Given the description of an element on the screen output the (x, y) to click on. 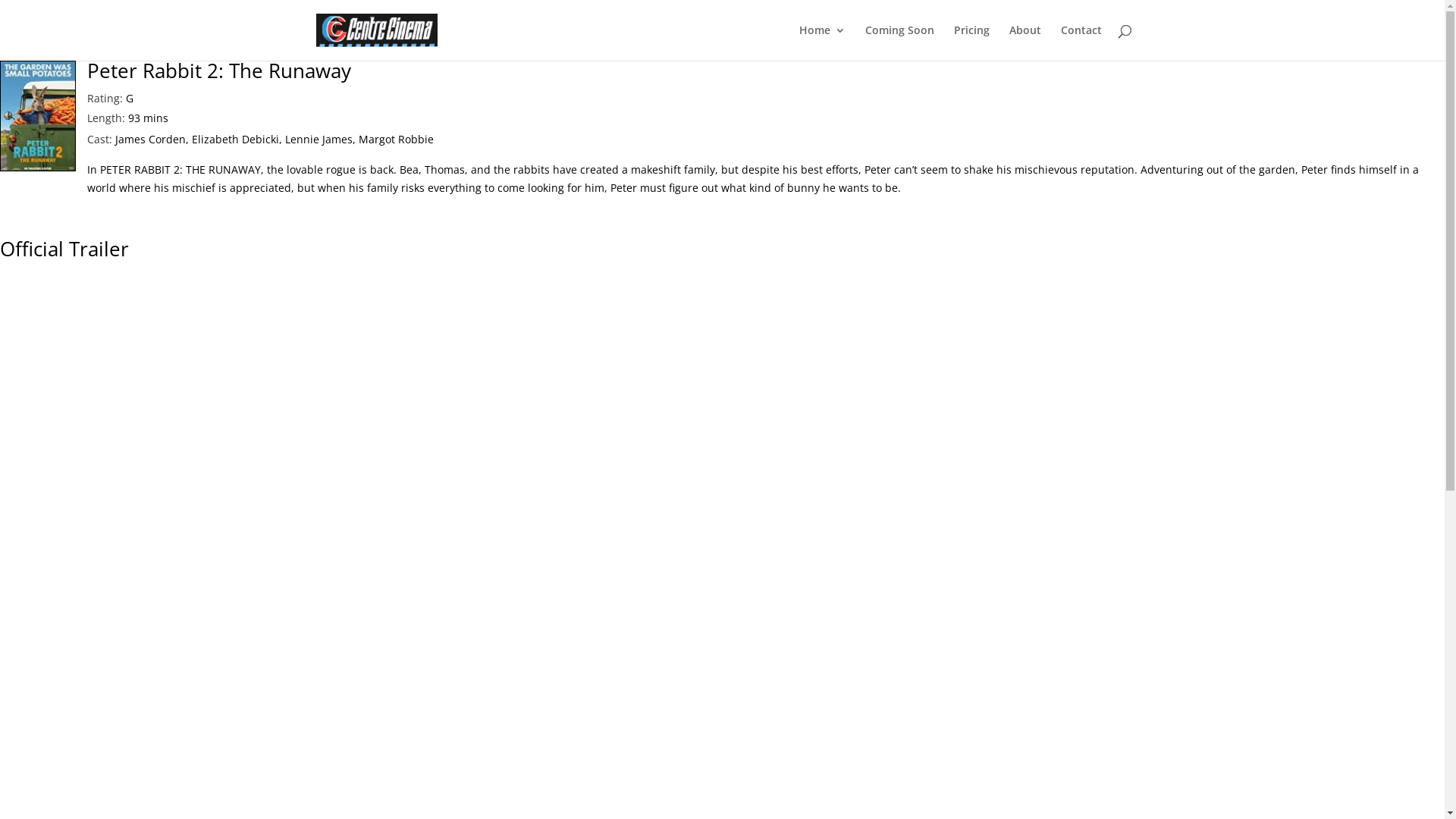
Coming Soon Element type: text (898, 42)
Contact Element type: text (1080, 42)
Pricing Element type: text (971, 42)
About Element type: text (1024, 42)
Home Element type: text (822, 42)
